Given the description of an element on the screen output the (x, y) to click on. 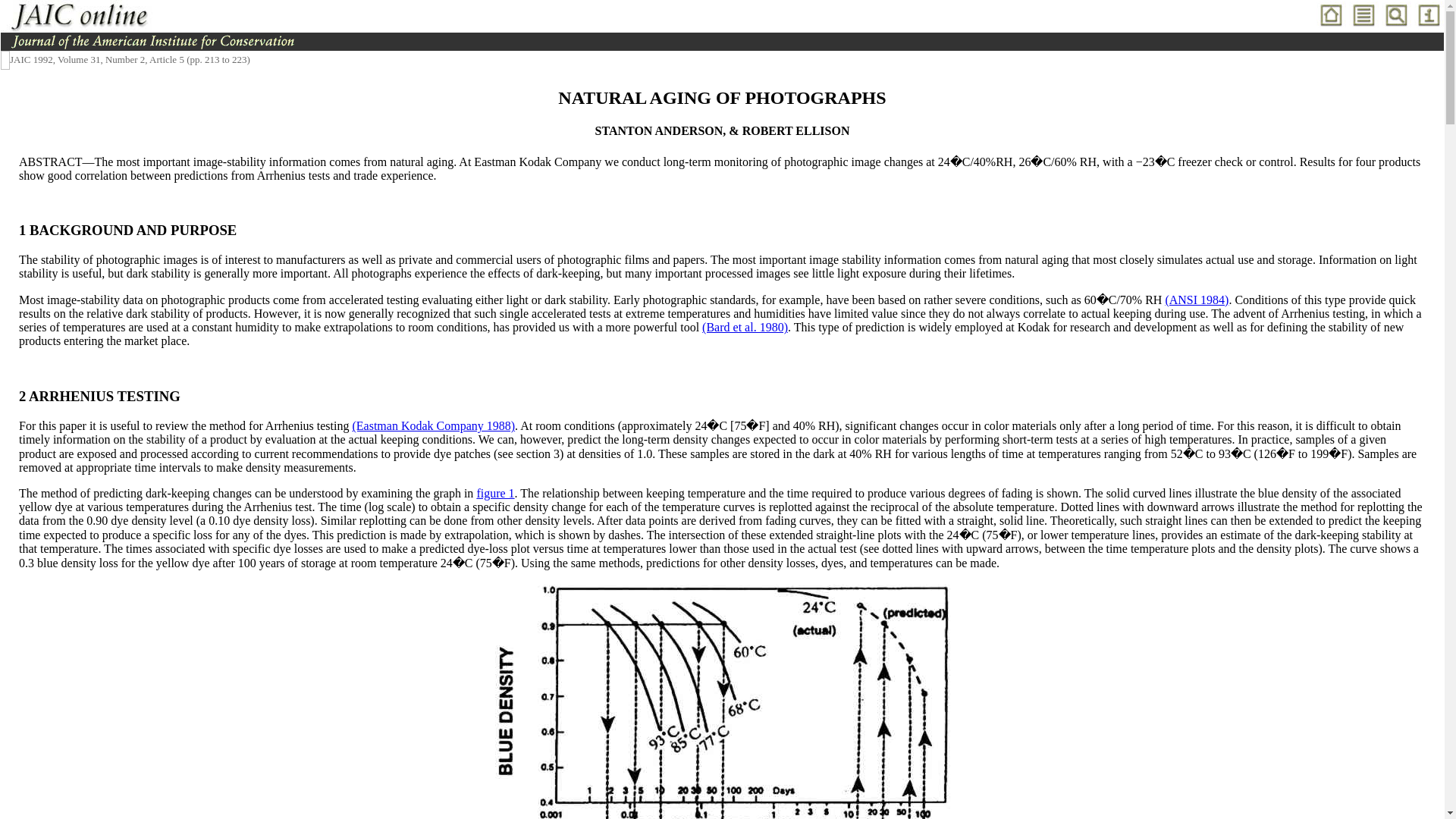
figure 1 (494, 492)
